Given the description of an element on the screen output the (x, y) to click on. 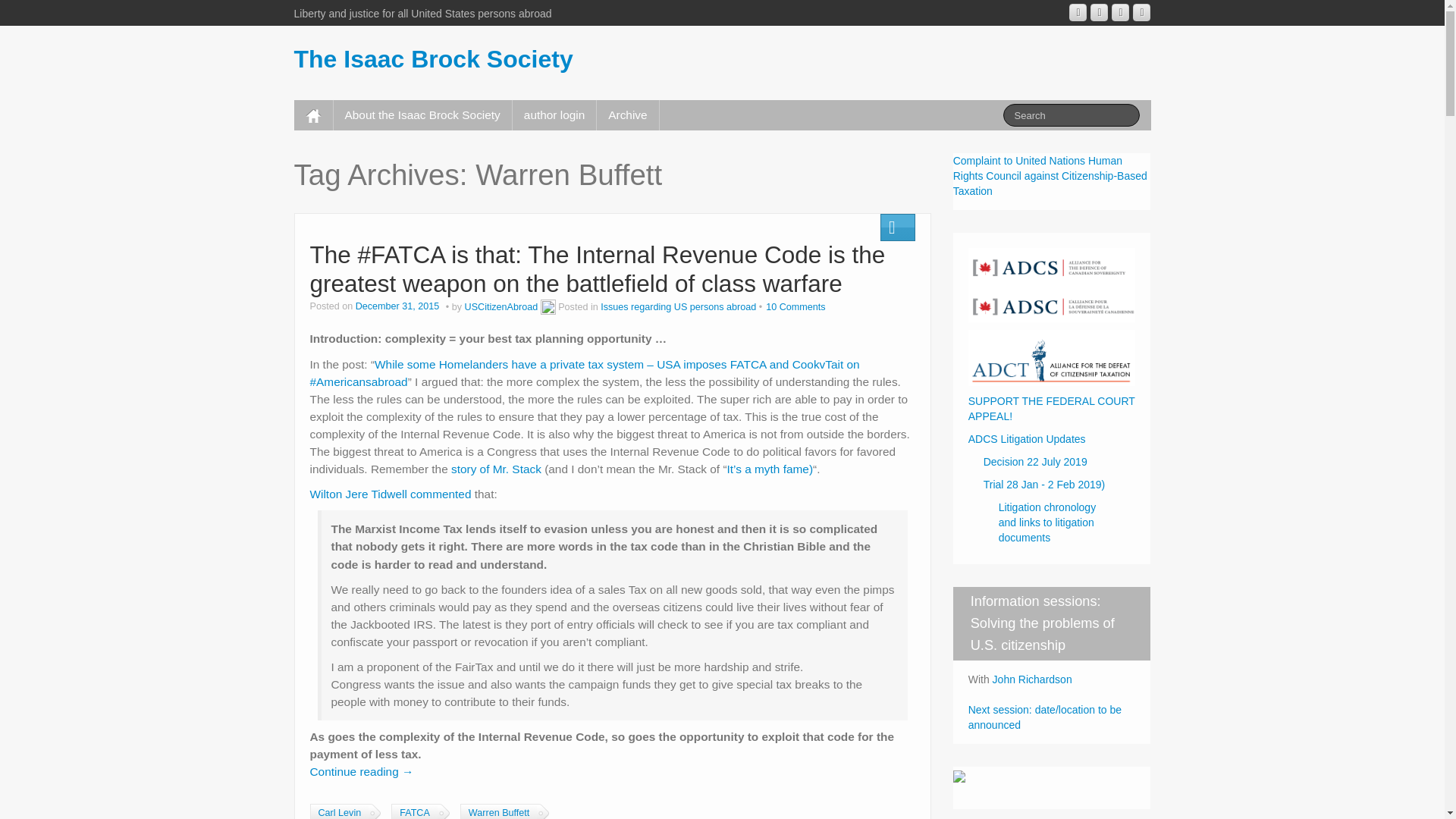
The Isaac Brock Society (433, 58)
Archive (627, 114)
The Isaac Brock Society Twitter (1141, 12)
USCitizenAbroad (501, 307)
The Isaac Brock Society Facebook (1099, 12)
The Isaac Brock Society Googleplus (1077, 12)
SUPPORT THE FEDERAL COURT APPEAL! (1051, 408)
The Isaac Brock Society Vimeo (1120, 12)
10 Comments (795, 307)
12:57 am (398, 307)
Issues regarding US persons abroad (677, 307)
ADCT (1051, 357)
View all posts by USCitizenAbroad (501, 307)
About the Isaac Brock Society (422, 114)
